Given the description of an element on the screen output the (x, y) to click on. 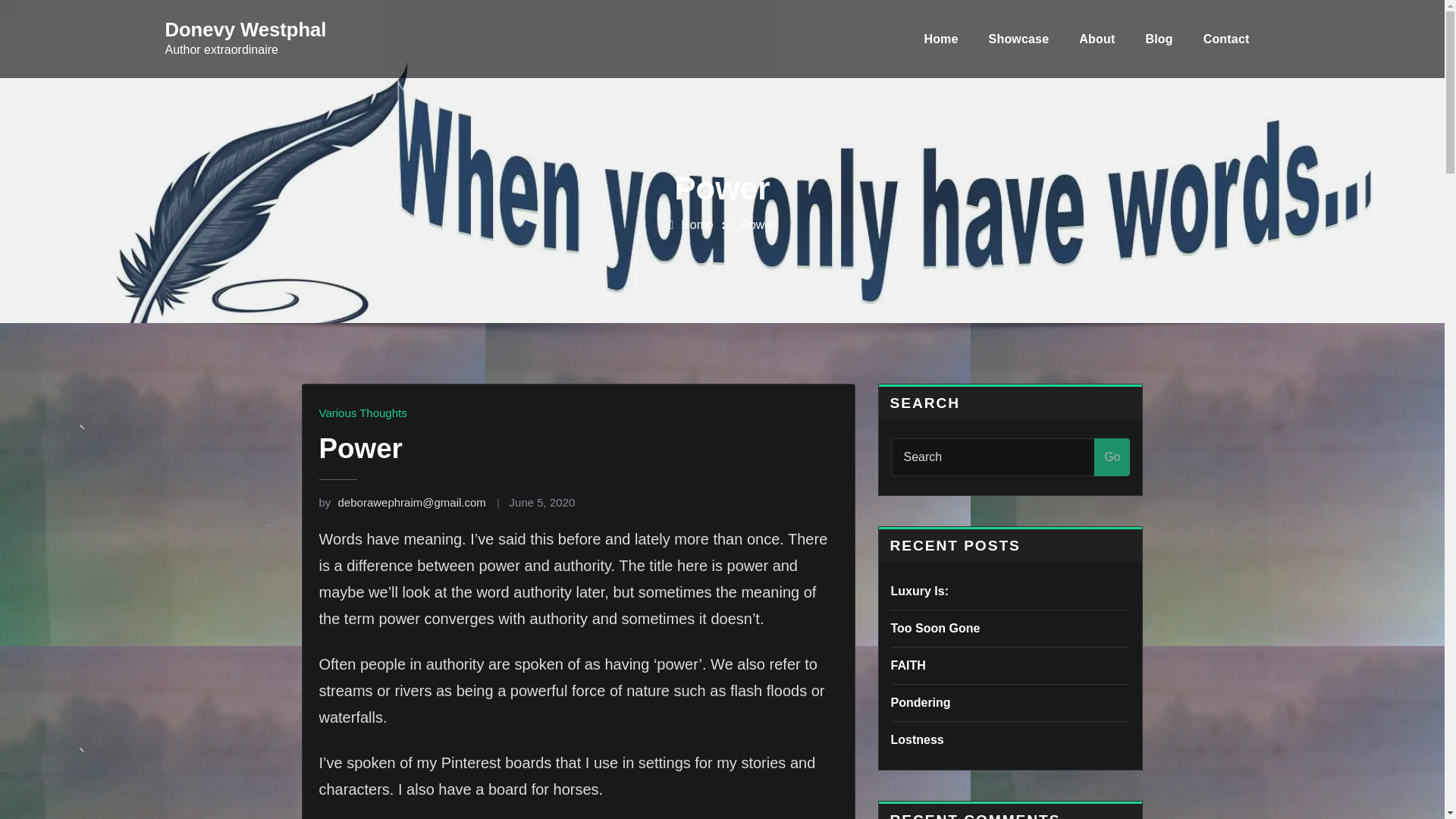
Too Soon Gone (934, 627)
June 5, 2020 (542, 502)
Home (697, 224)
Lostness (916, 739)
Luxury Is: (918, 590)
Contact (1226, 38)
Power (757, 224)
Pondering (919, 702)
Various Thoughts (362, 412)
Showcase (1019, 38)
Go (1111, 456)
Donevy Westphal (245, 29)
FAITH (906, 665)
